Given the description of an element on the screen output the (x, y) to click on. 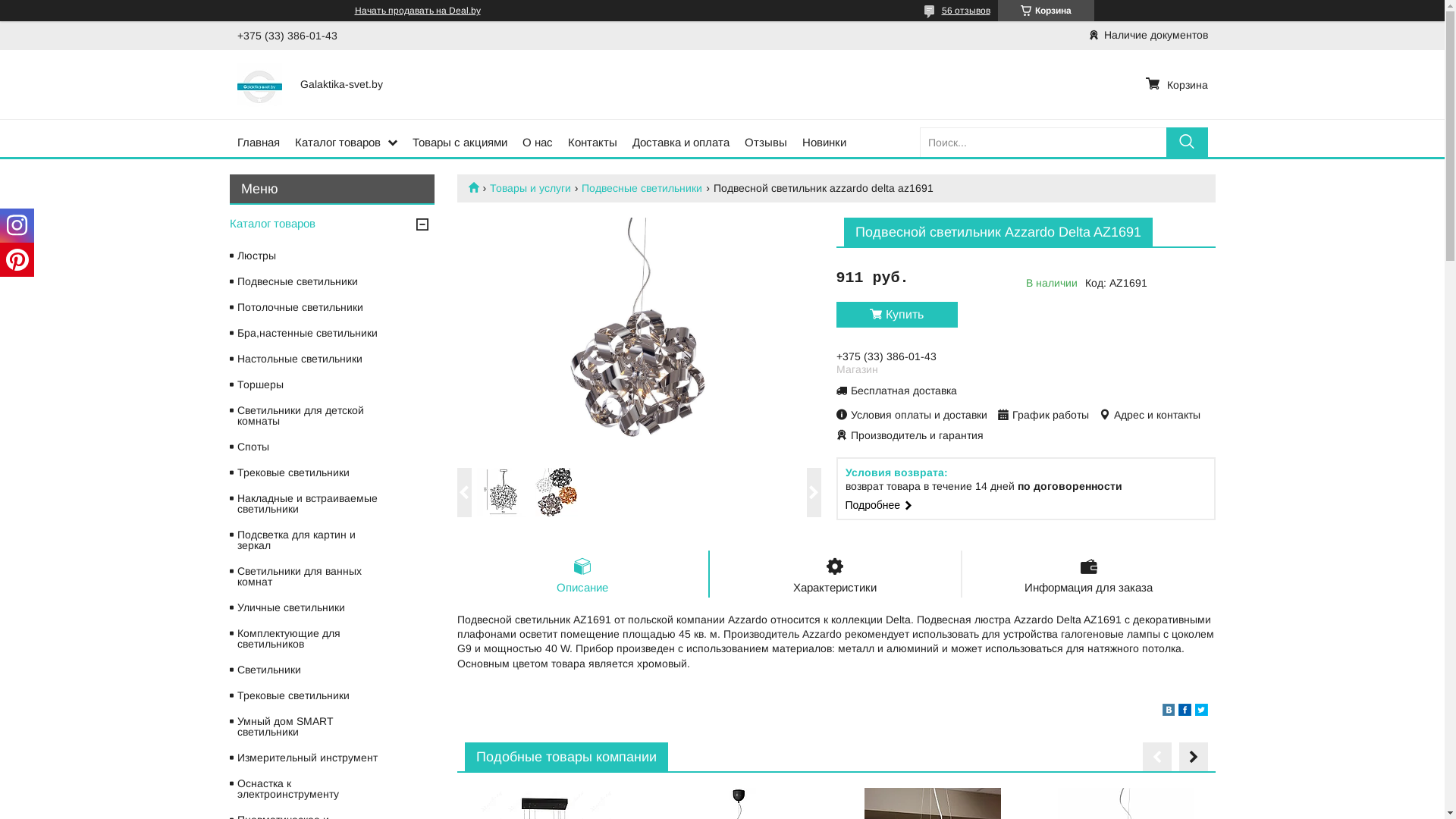
facebook Element type: hover (1184, 712)
GALAKTIKA-SVET Element type: hover (258, 84)
Galaktika-svet Element type: hover (478, 186)
twitter Element type: hover (1201, 712)
